Given the description of an element on the screen output the (x, y) to click on. 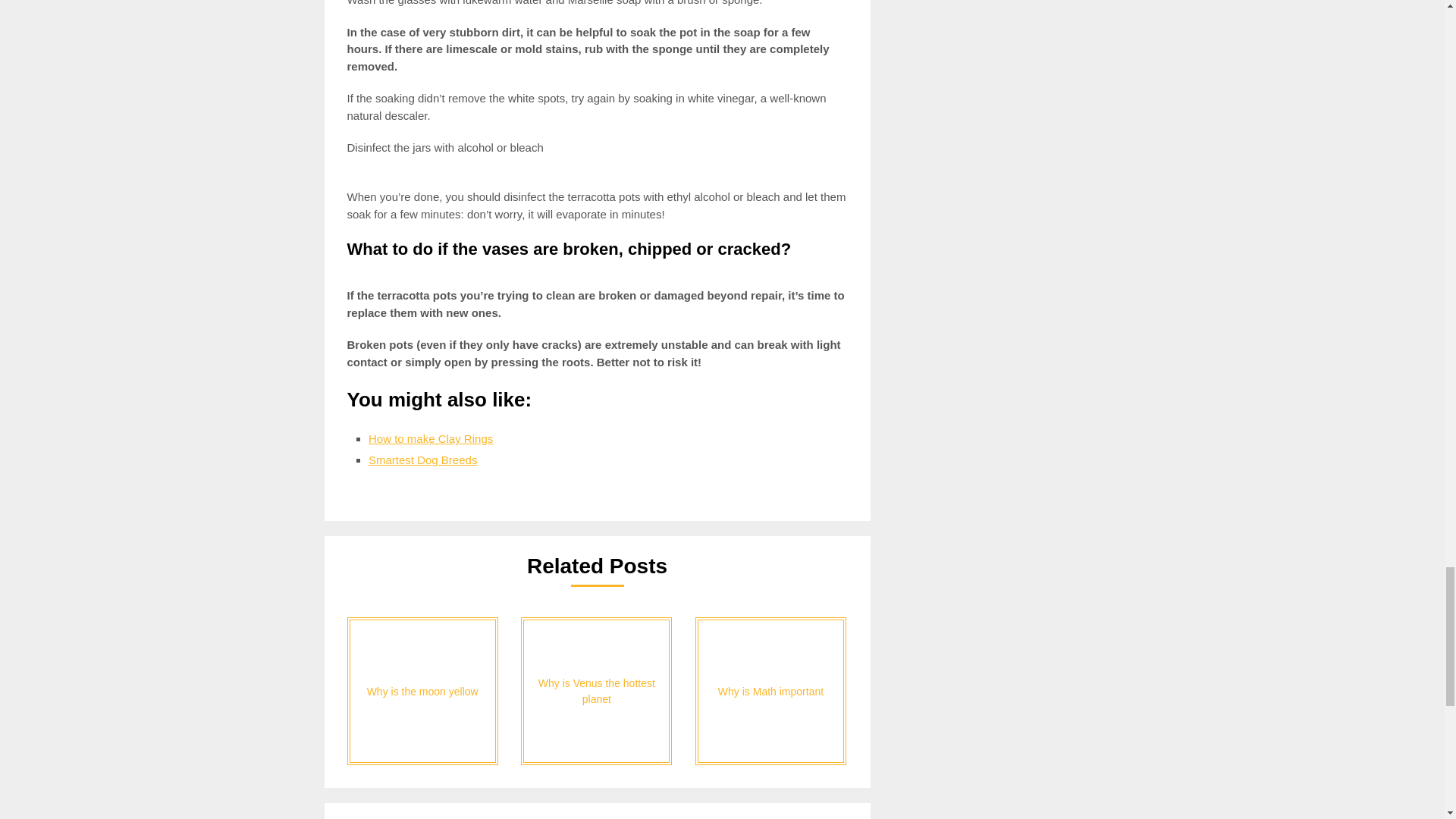
Why is Venus the hottest planet (596, 690)
Why is the moon yellow (422, 690)
Smartest Dog Breeds (422, 459)
Why is Venus the hottest planet (596, 690)
Why is Math important (770, 690)
Why is the moon yellow (422, 690)
Why is Math important (770, 690)
How to make Clay Rings (430, 438)
